Given the description of an element on the screen output the (x, y) to click on. 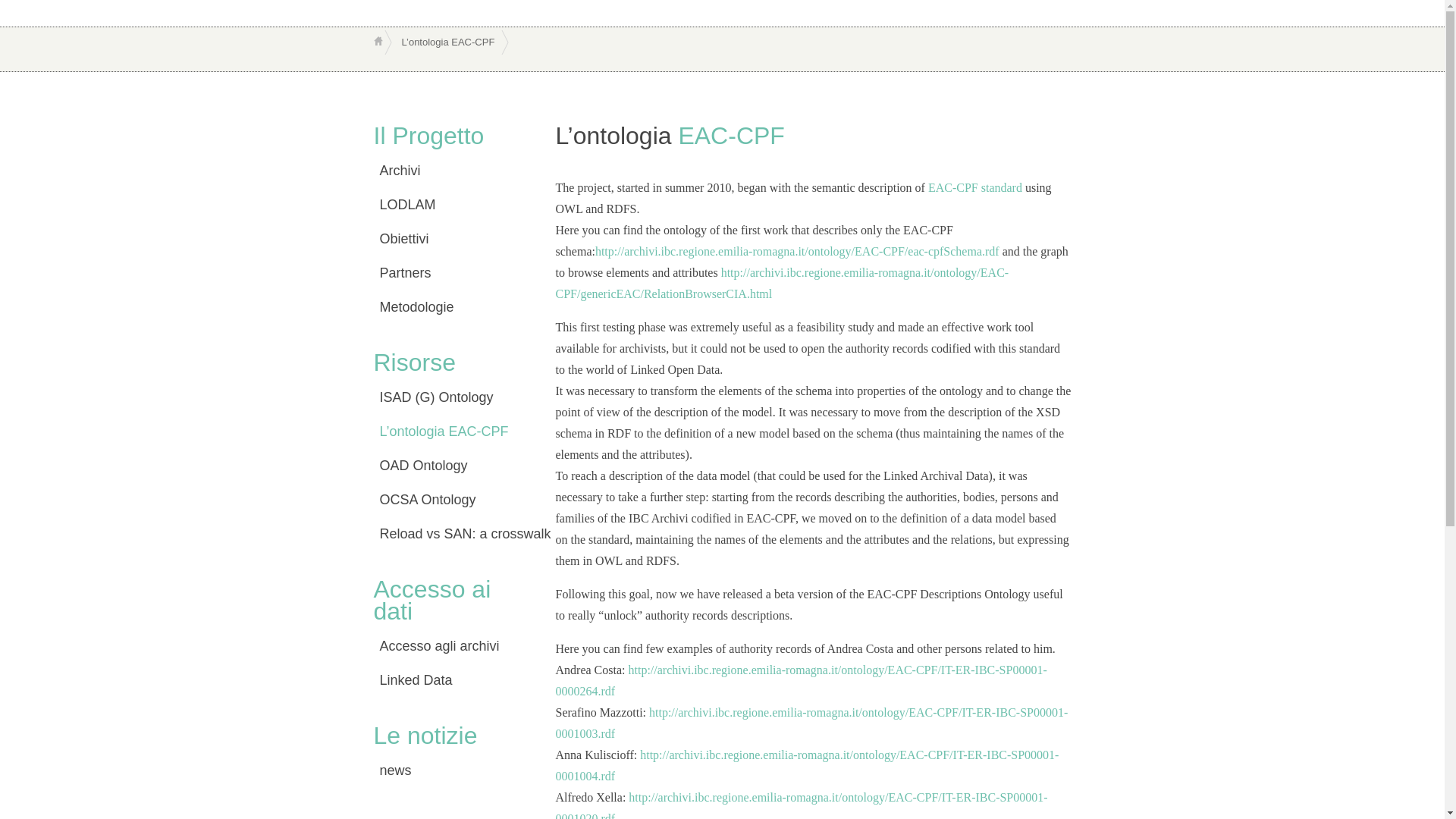
EAC-CPF standard (975, 187)
Archivi (448, 171)
OAD Ontology (448, 466)
Partners (448, 274)
Subscribe to RSS Feed (1412, 54)
news (448, 771)
Linked Data (448, 681)
Reload vs SAN: a crosswalk (448, 534)
Accesso agli archivi (448, 646)
